Given the description of an element on the screen output the (x, y) to click on. 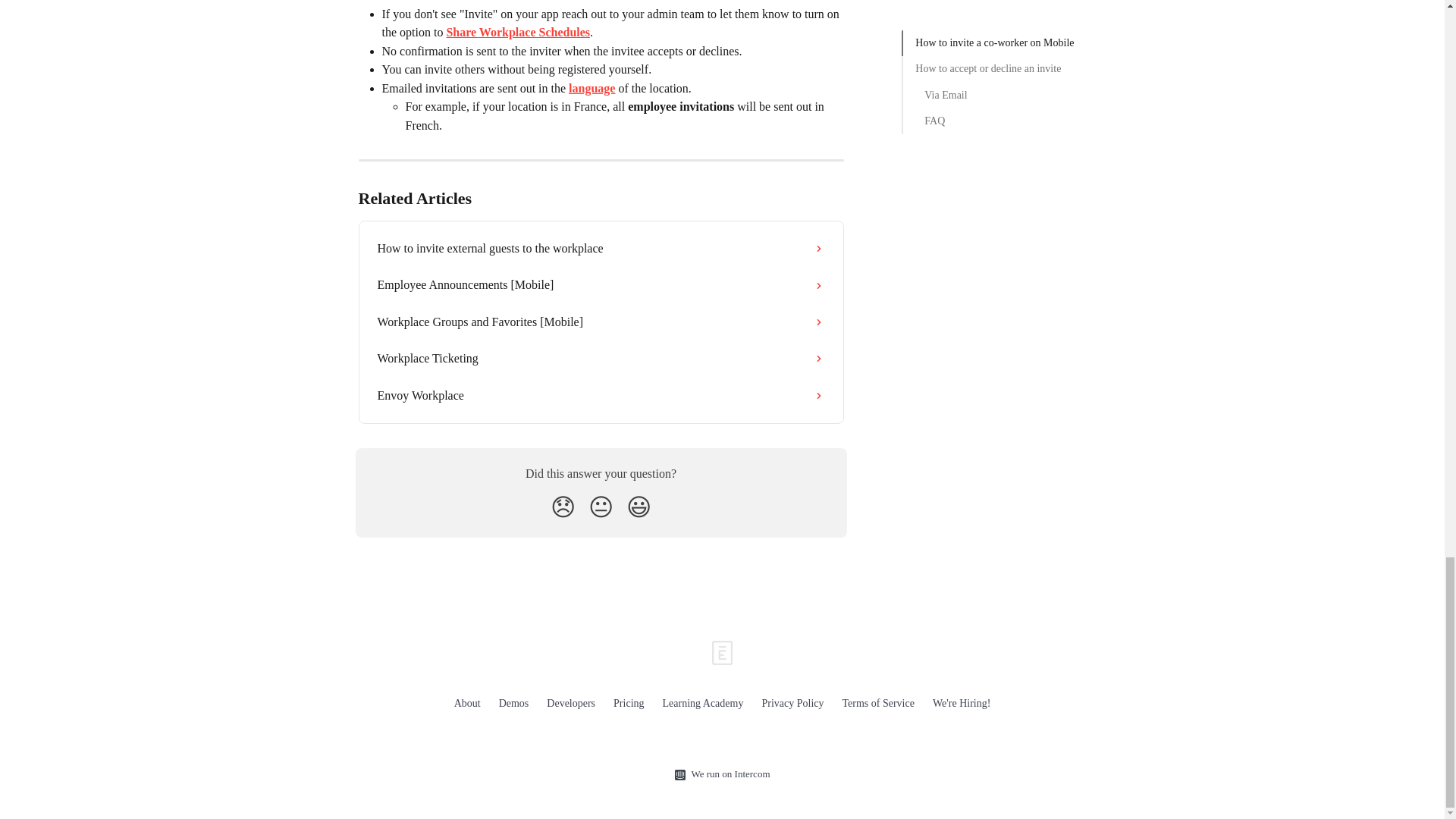
Neutral (600, 506)
How to invite external guests to the workplace (601, 248)
Workplace Ticketing (601, 358)
language (591, 88)
Envoy Workplace (601, 395)
Developers (571, 703)
Demos (514, 703)
About (467, 703)
Smiley (638, 506)
Share Workplace Schedules (517, 31)
Pricing (627, 703)
Learning Academy (703, 703)
Disappointed (562, 506)
